Given the description of an element on the screen output the (x, y) to click on. 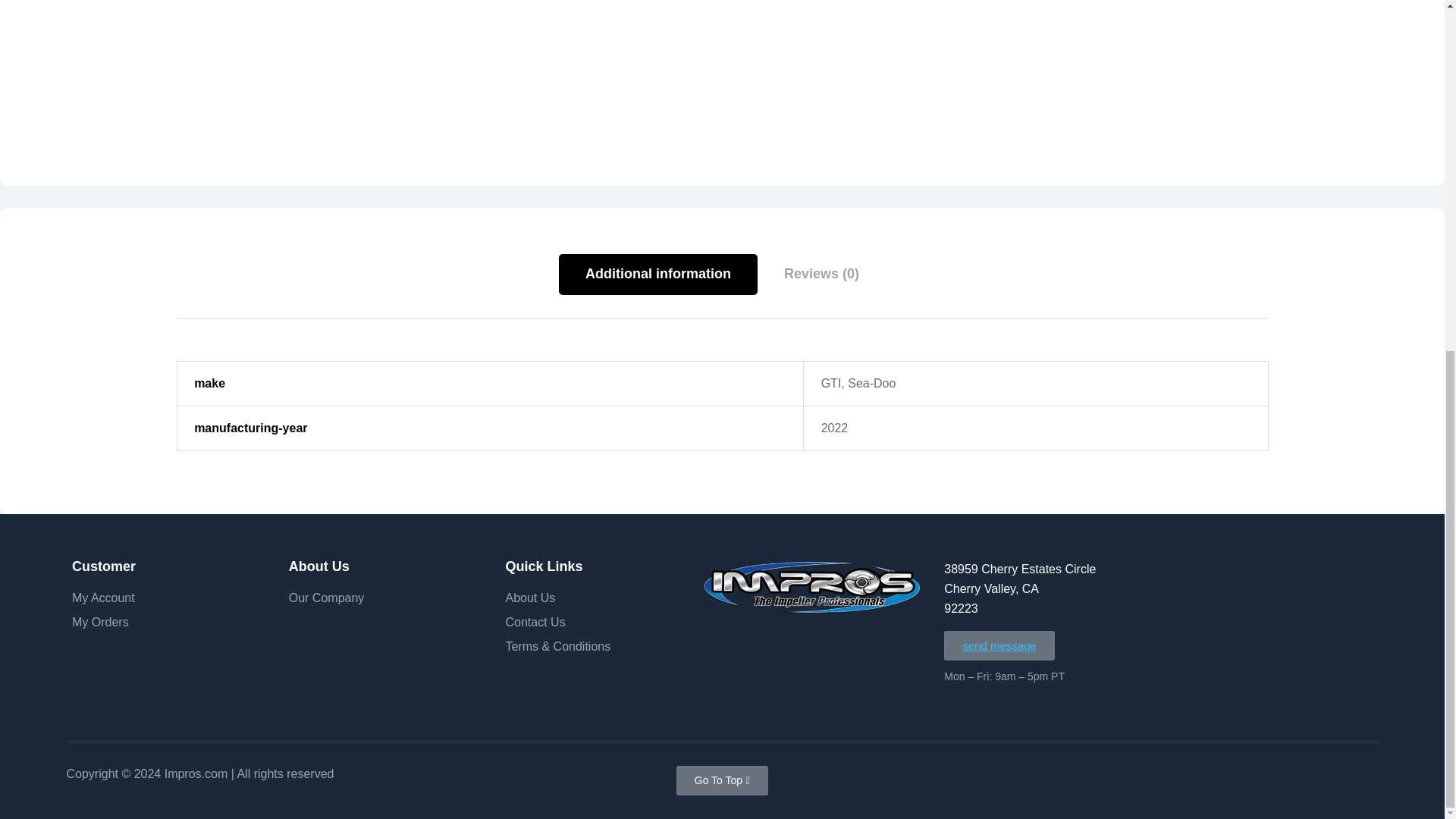
Go To Top (721, 780)
